Given the description of an element on the screen output the (x, y) to click on. 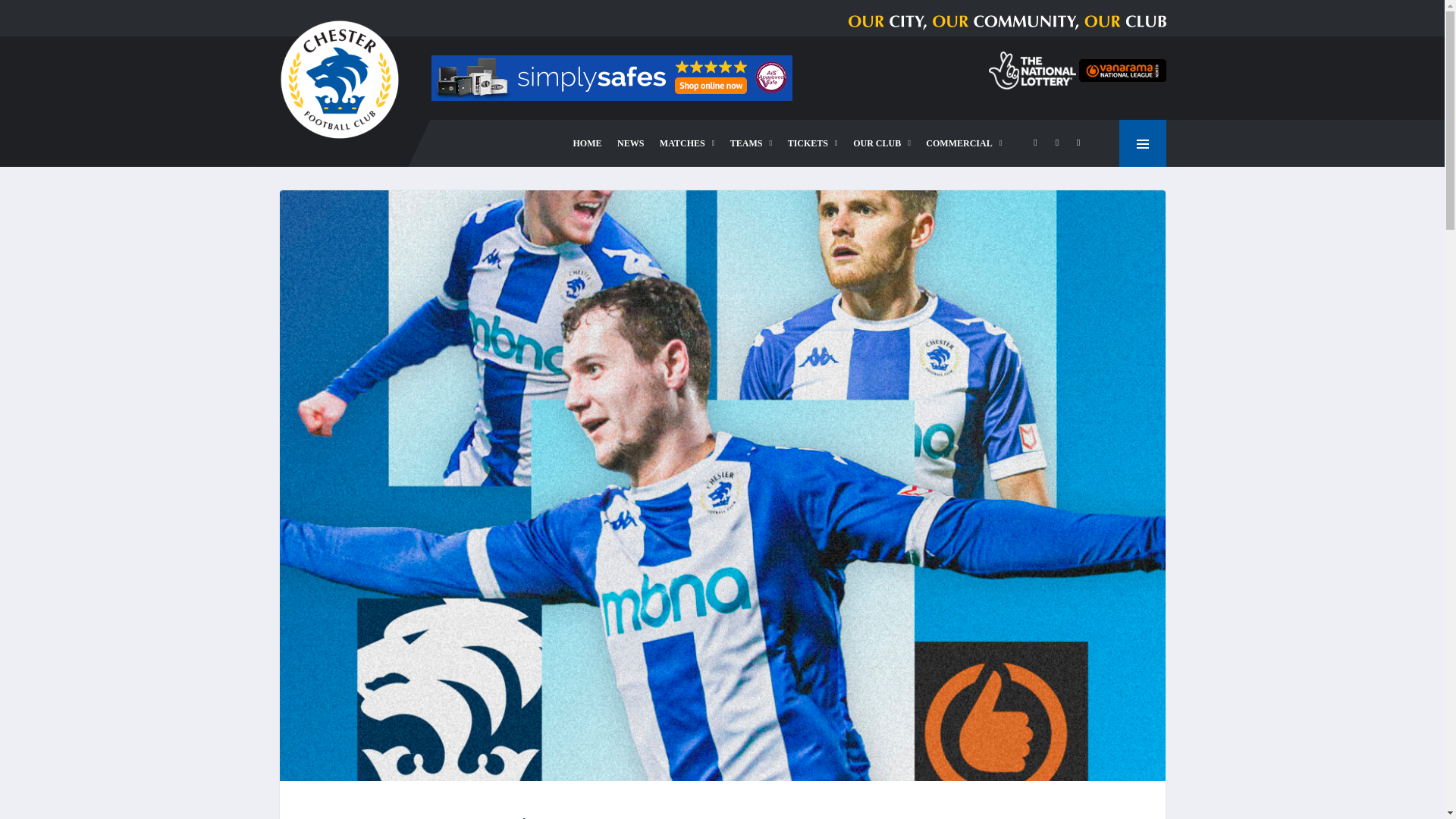
TICKETS (812, 143)
MATCHES (686, 143)
NEWS (630, 143)
TEAMS (750, 143)
HOME (587, 143)
OUR CLUB (882, 143)
